Given the description of an element on the screen output the (x, y) to click on. 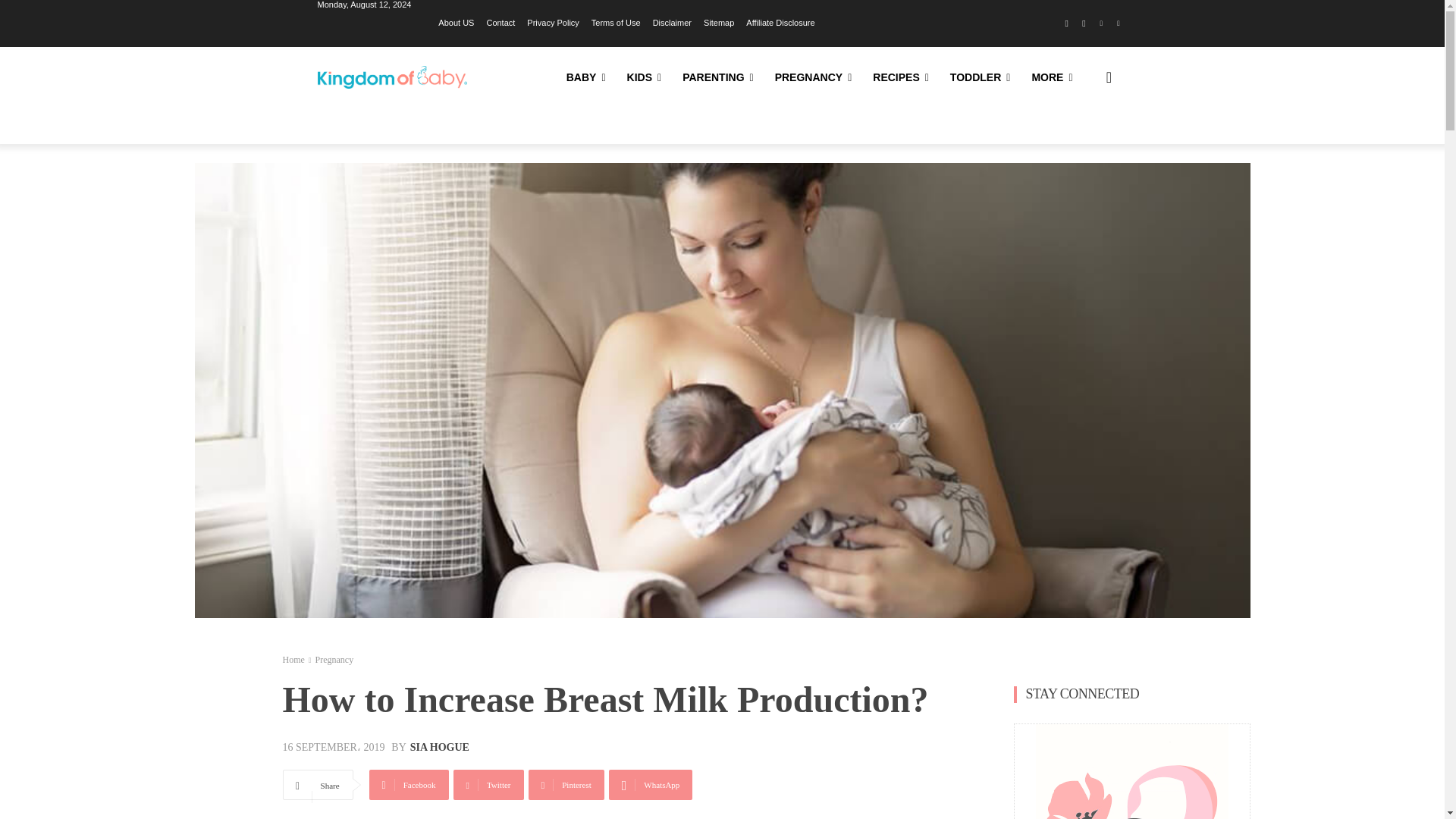
Pinterest (1101, 23)
Instagram (1084, 23)
Twitter (1117, 23)
Facebook (408, 784)
Facebook (1066, 23)
View all posts in Pregnancy (333, 659)
Pinterest (565, 784)
WhatsApp (650, 784)
Twitter (488, 784)
